Given the description of an element on the screen output the (x, y) to click on. 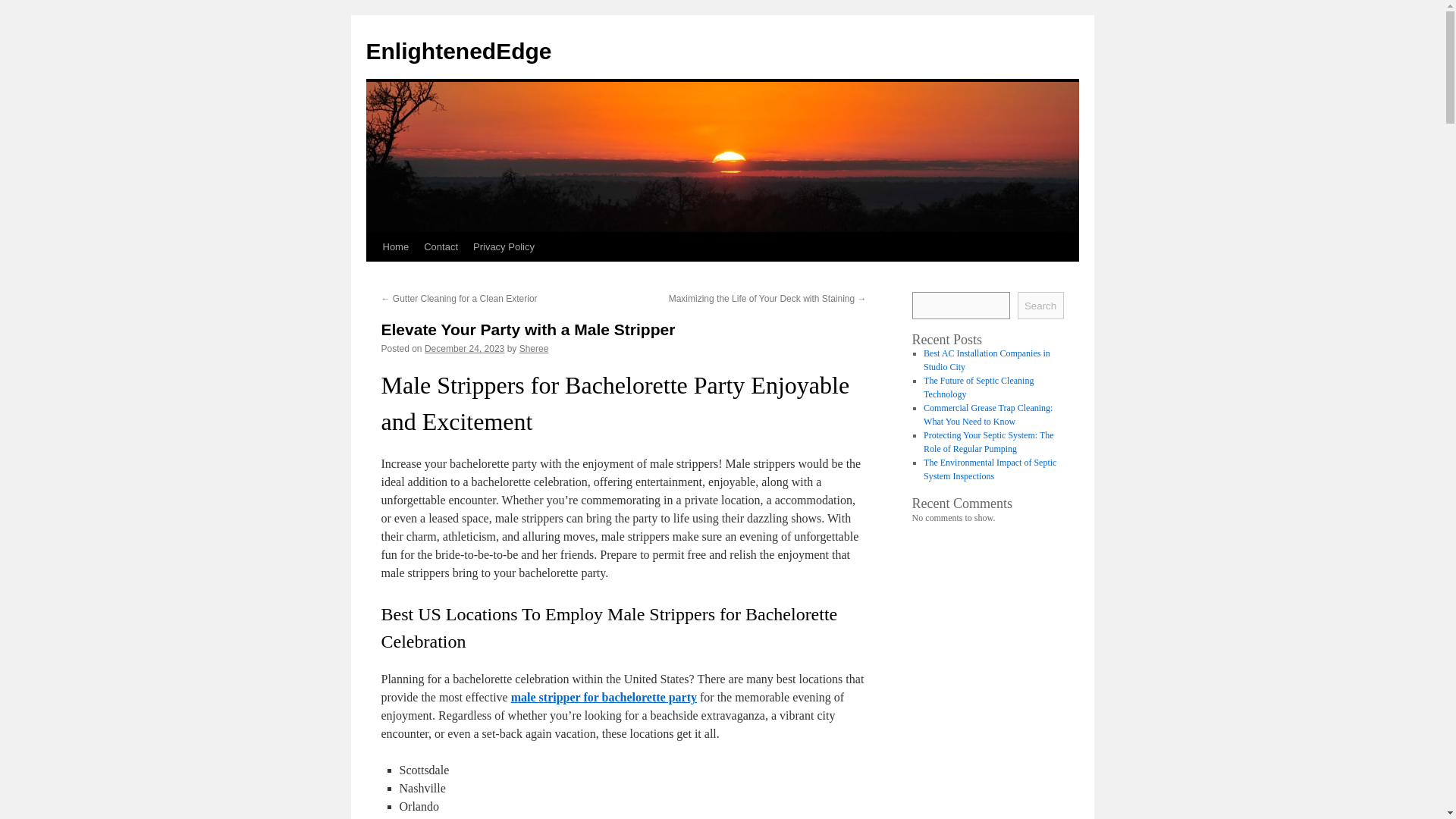
Commercial Grease Trap Cleaning: What You Need to Know (987, 414)
male stripper for bachelorette party (604, 697)
Search (1040, 305)
The Future of Septic Cleaning Technology (978, 387)
Protecting Your Septic System: The Role of Regular Pumping (987, 441)
December 24, 2023 (464, 348)
The Environmental Impact of Septic System Inspections (990, 469)
9:29 pm (464, 348)
EnlightenedEdge (458, 50)
View all posts by Sheree (533, 348)
Contact (440, 246)
Best AC Installation Companies in Studio City (986, 360)
Sheree (533, 348)
Privacy Policy (503, 246)
Home (395, 246)
